Given the description of an element on the screen output the (x, y) to click on. 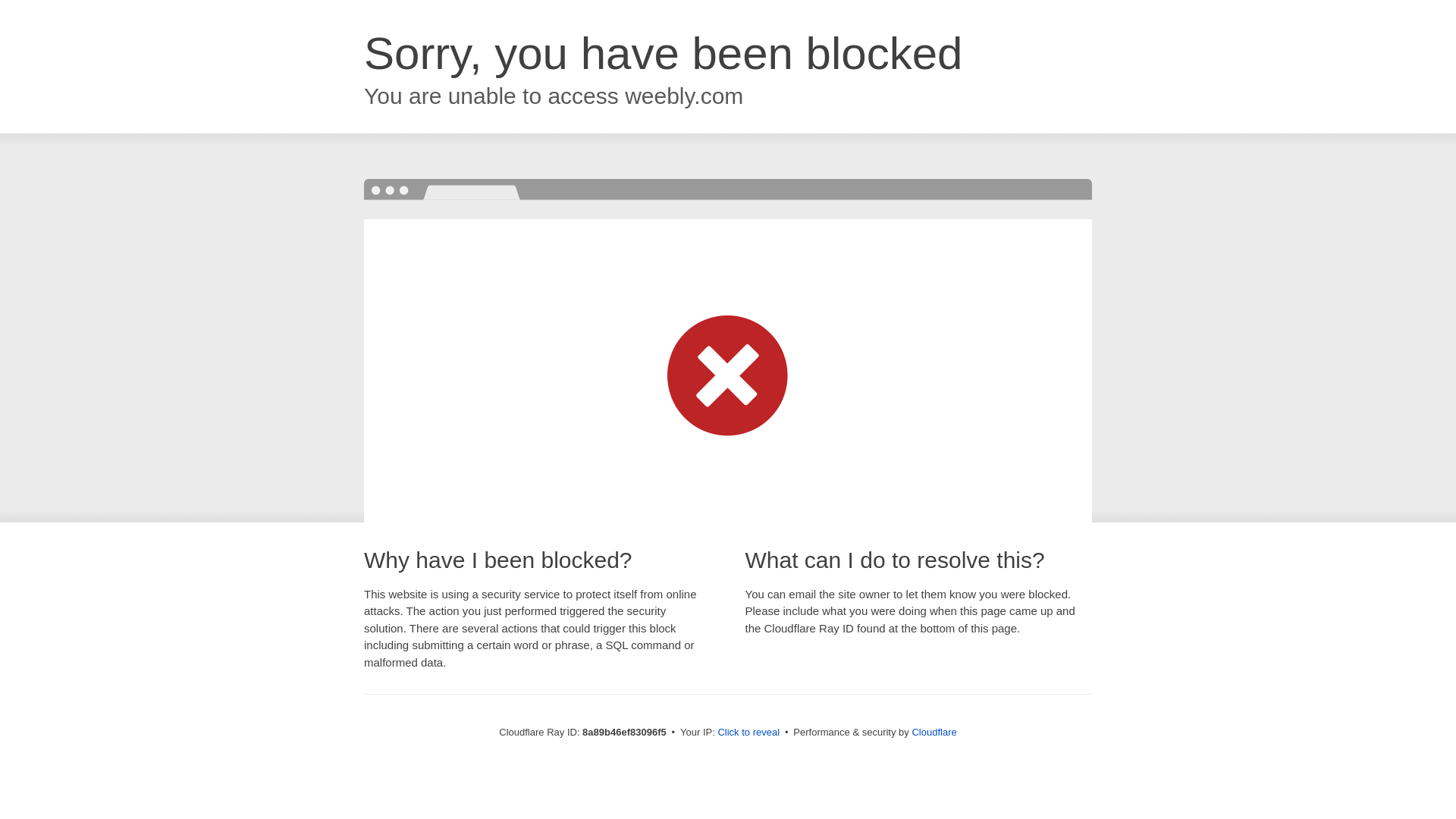
Cloudflare (933, 731)
Click to reveal (747, 732)
